Given the description of an element on the screen output the (x, y) to click on. 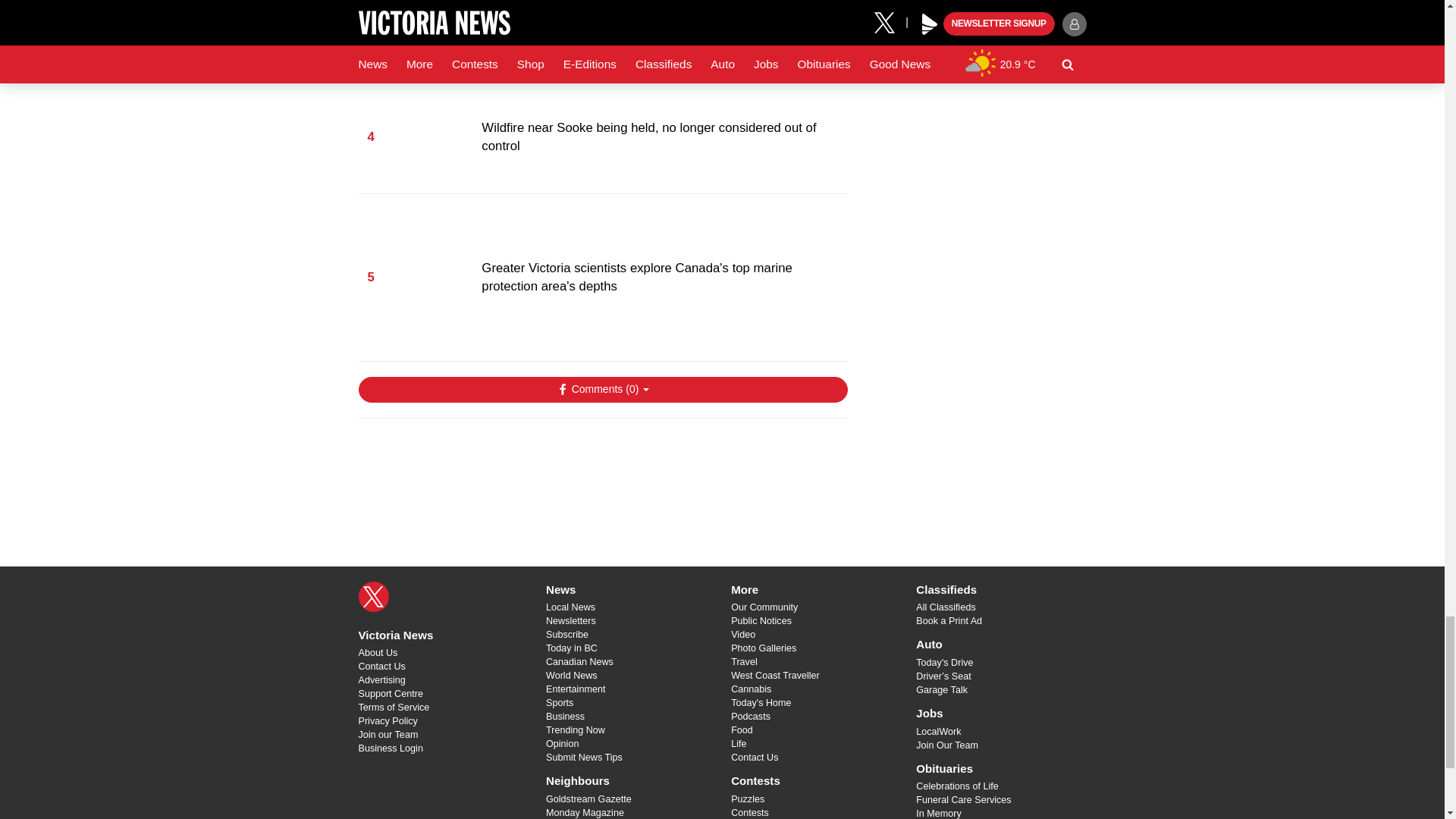
Show Comments (602, 389)
X (373, 596)
